Given the description of an element on the screen output the (x, y) to click on. 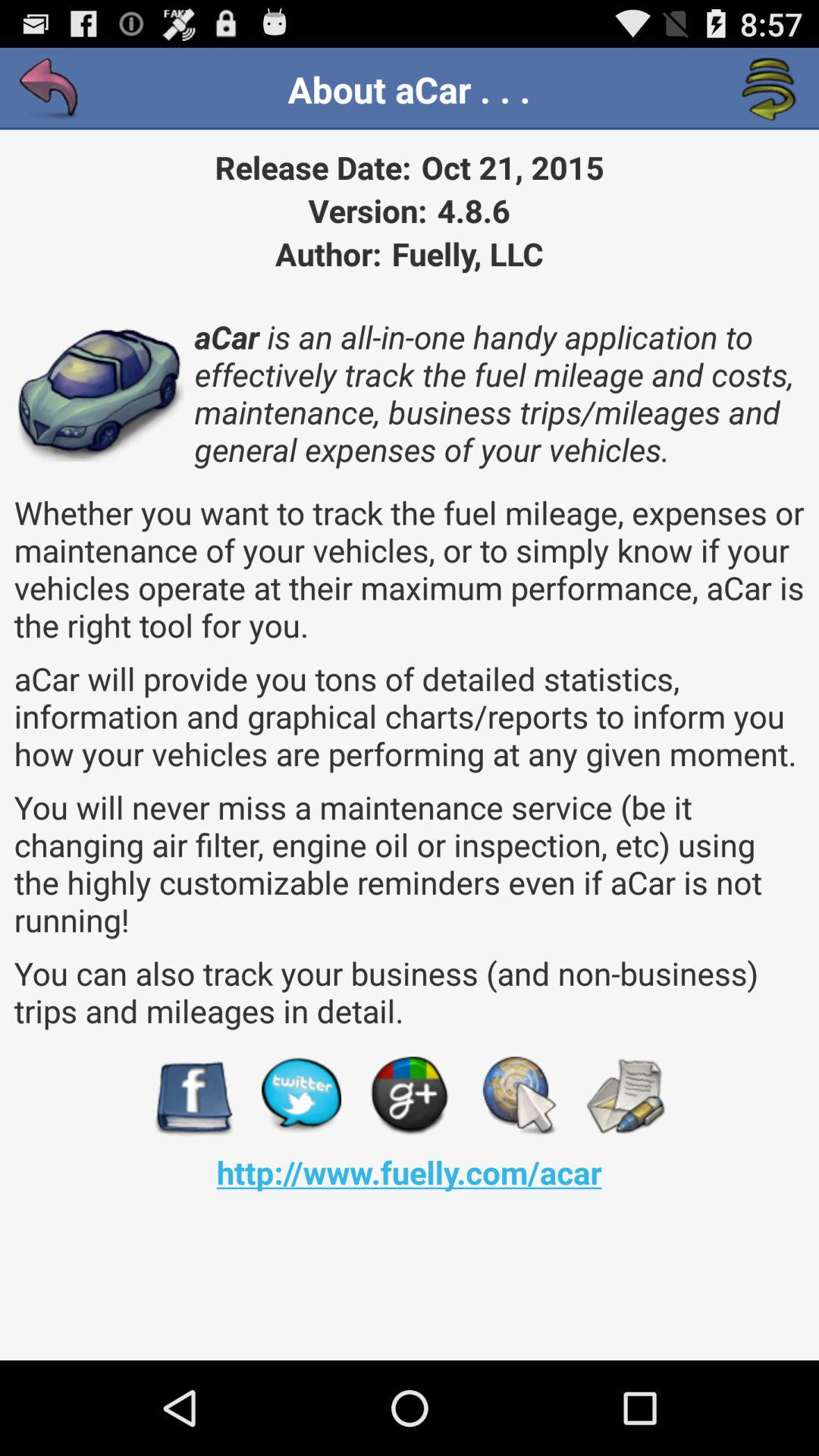
go back (49, 89)
